Given the description of an element on the screen output the (x, y) to click on. 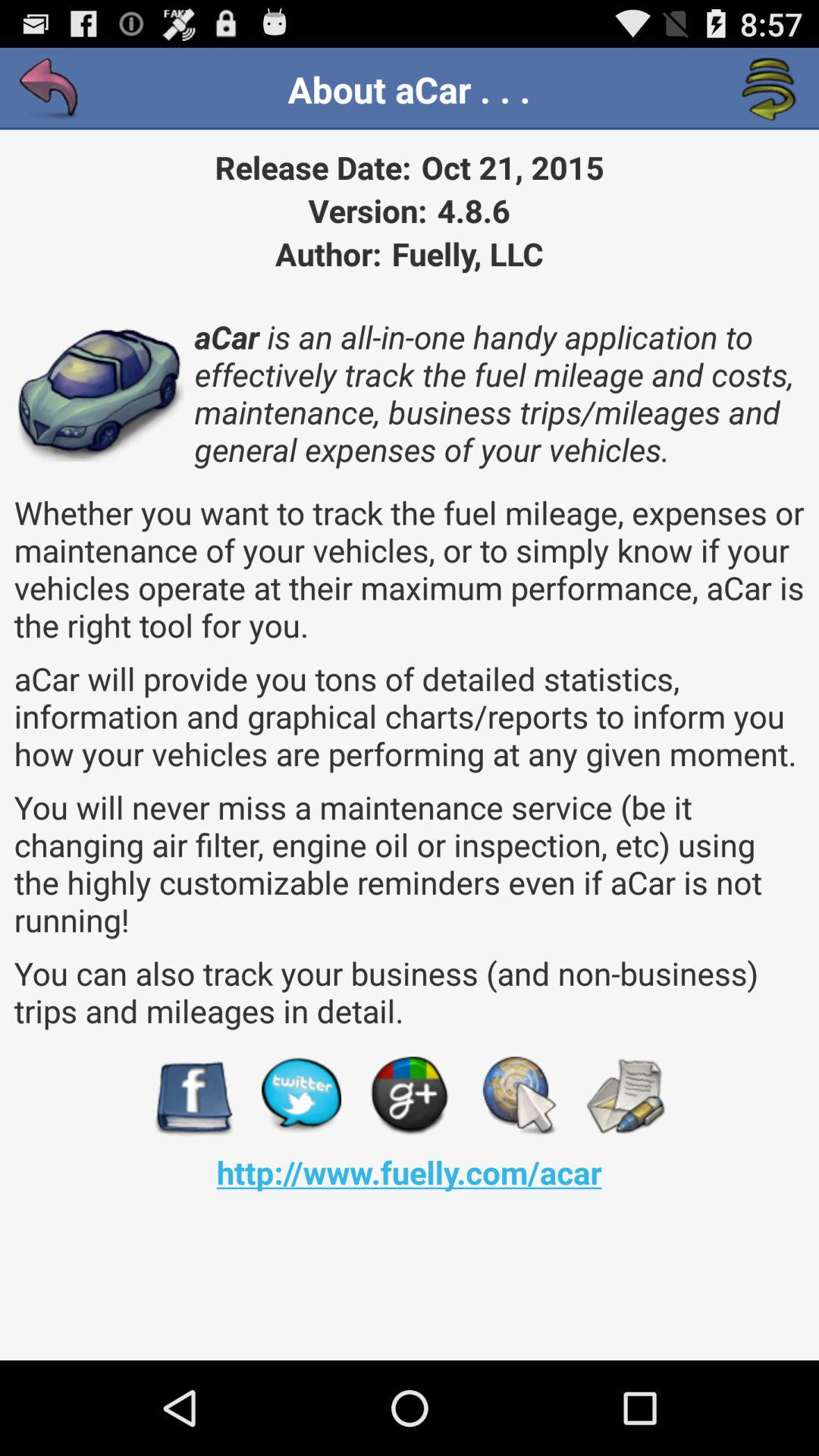
go back (49, 89)
